Given the description of an element on the screen output the (x, y) to click on. 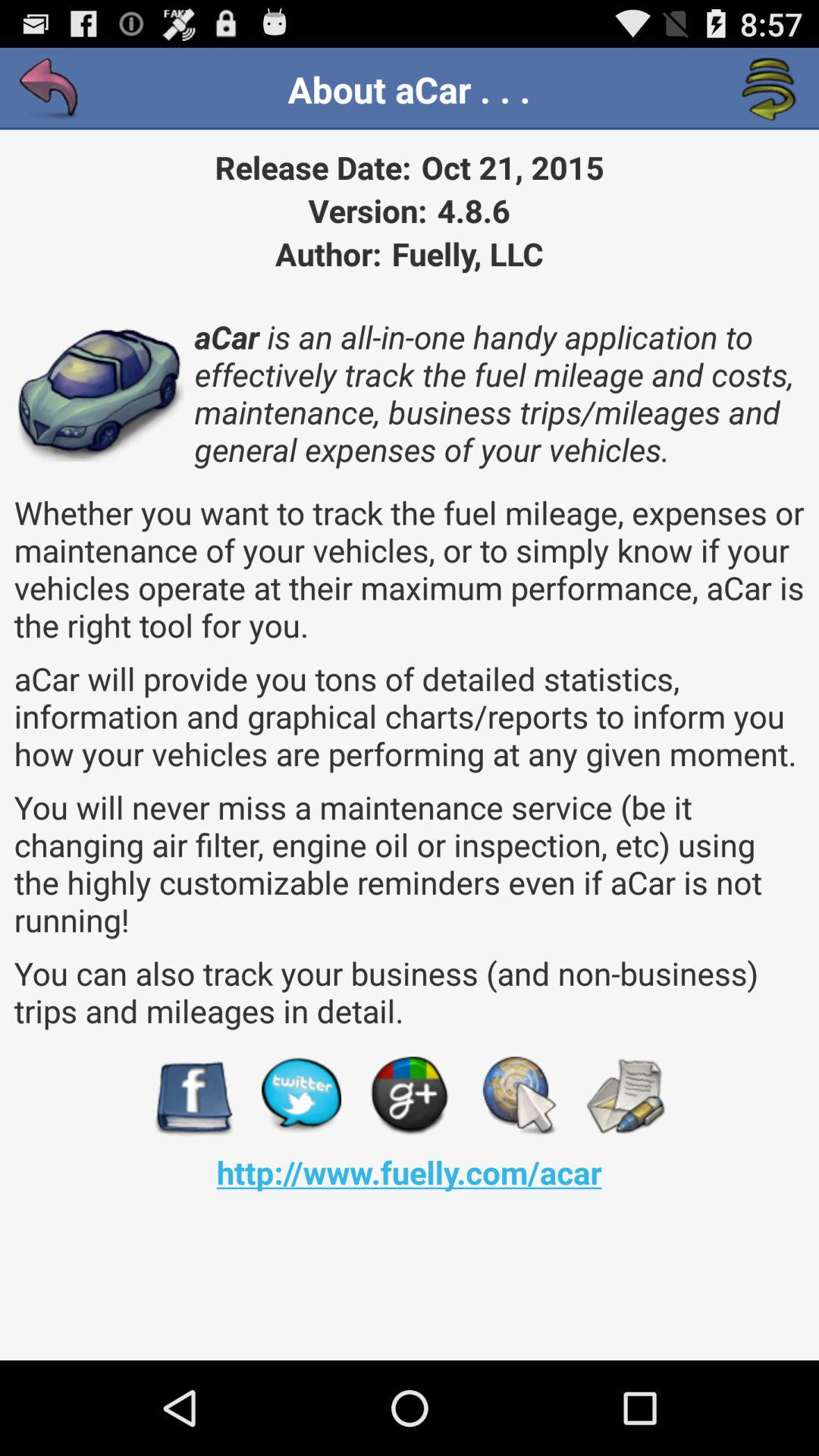
go back (49, 89)
